Given the description of an element on the screen output the (x, y) to click on. 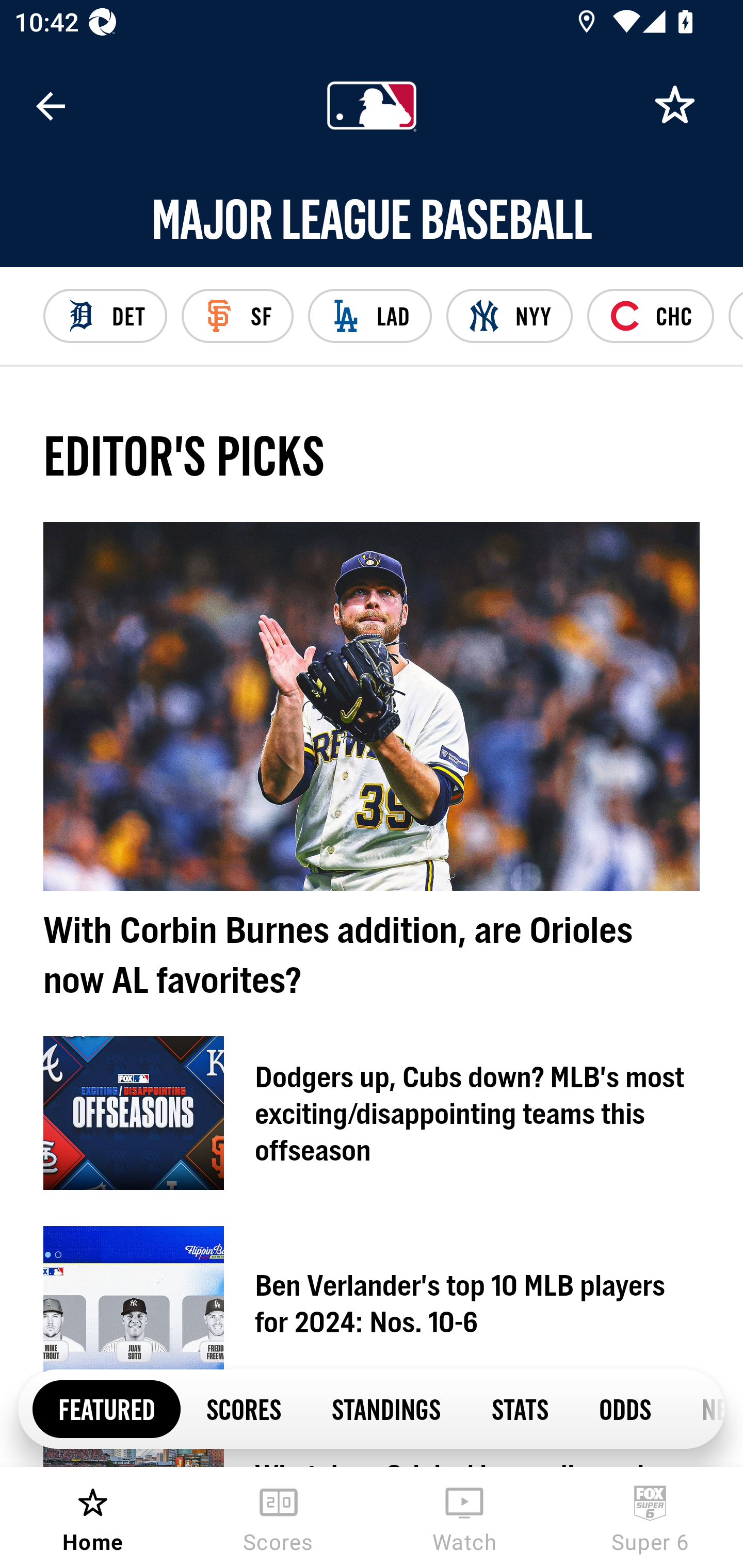
Navigate up (50, 106)
DET (105, 315)
SF (237, 315)
LAD (369, 315)
NYY (509, 315)
CHC (650, 315)
SCORES (243, 1408)
STANDINGS (385, 1408)
STATS (519, 1408)
ODDS (624, 1408)
Scores (278, 1517)
Watch (464, 1517)
Super 6 (650, 1517)
